Given the description of an element on the screen output the (x, y) to click on. 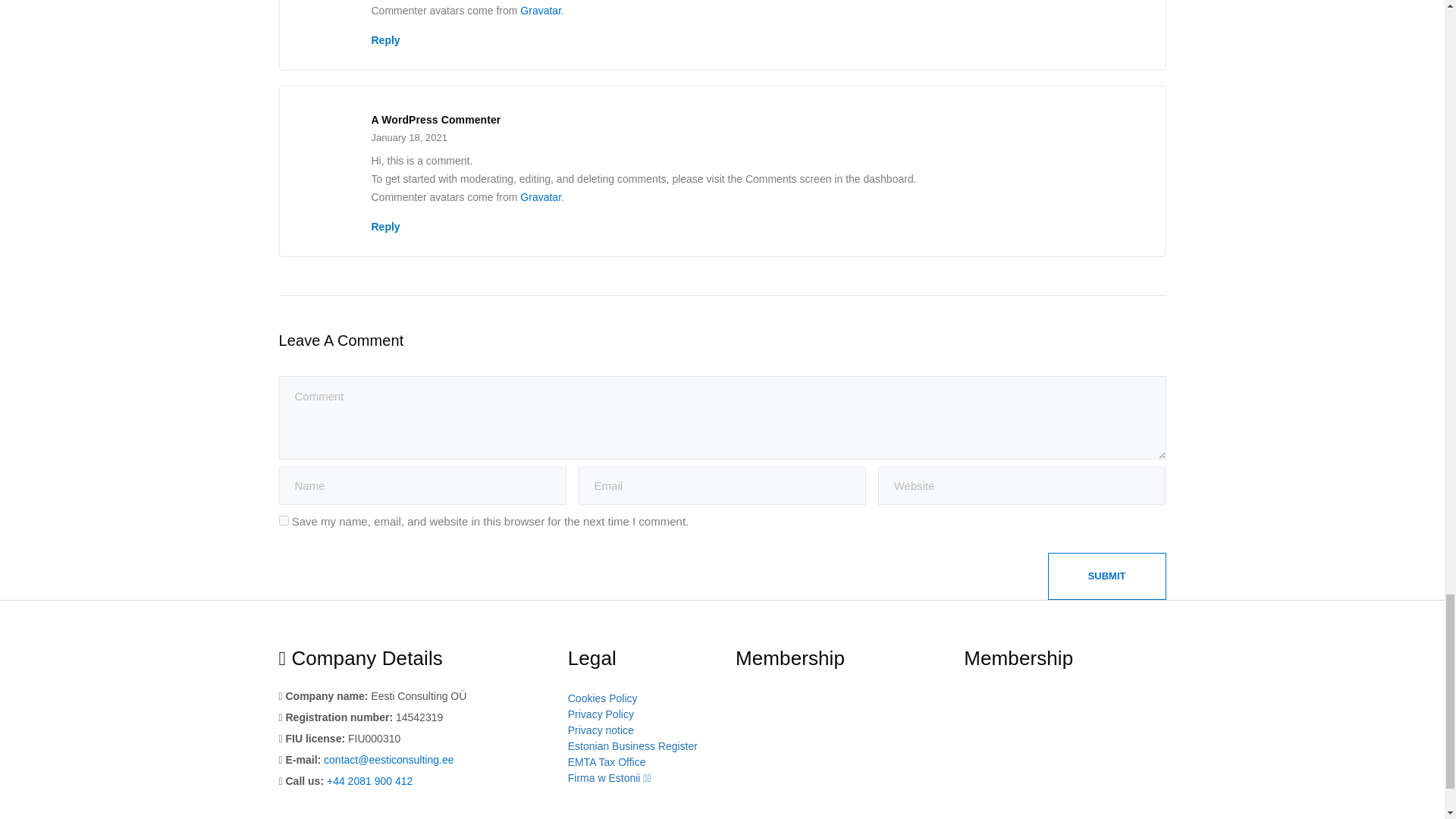
Submit (1107, 575)
yes (283, 520)
